Given the description of an element on the screen output the (x, y) to click on. 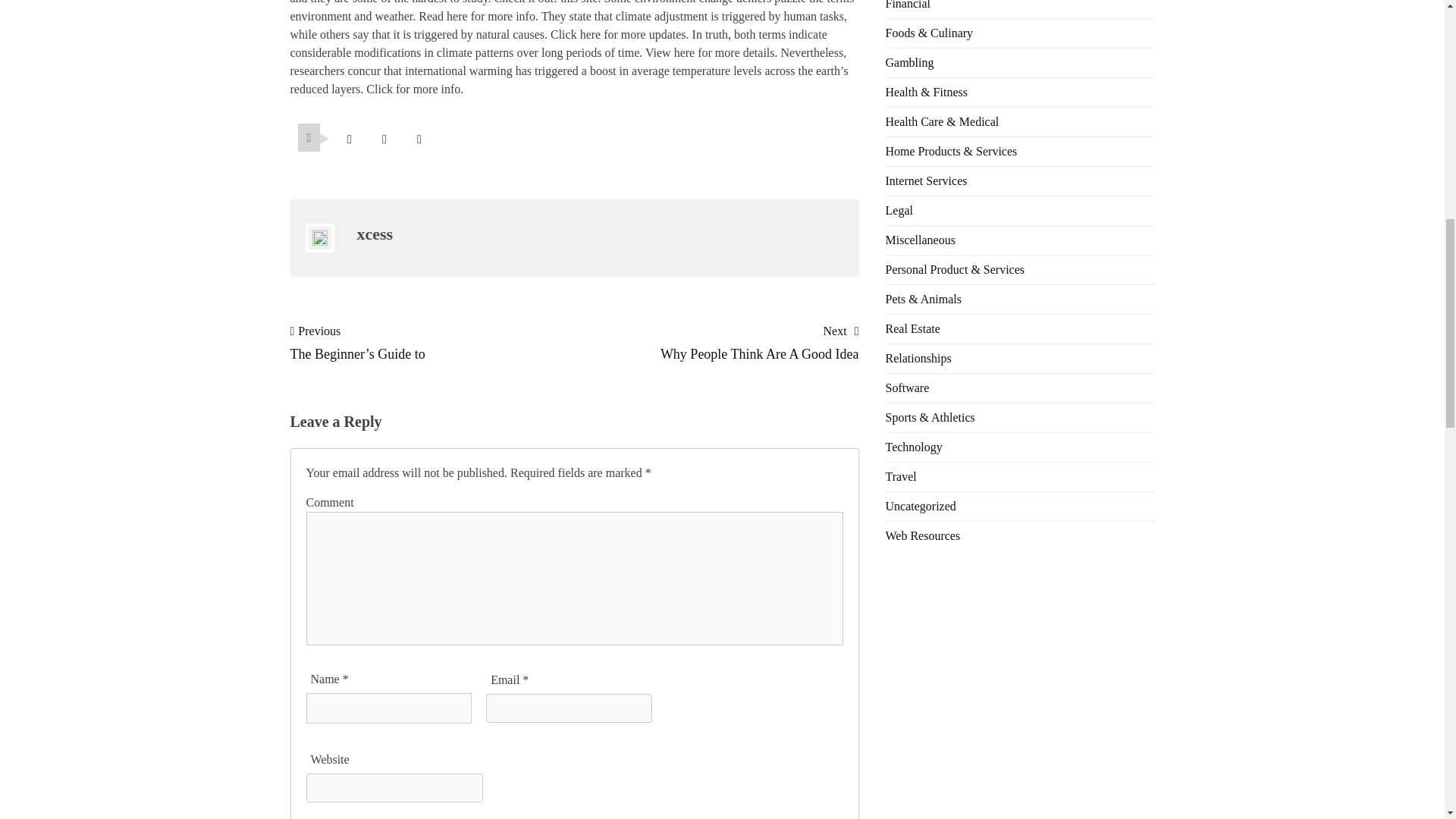
Share on Linkedin (419, 139)
Legal (898, 210)
Gambling (909, 62)
Internet Services (926, 180)
Miscellaneous (920, 239)
Share on Facebook (384, 139)
Tweet This! (349, 139)
Financial (908, 4)
Real Estate (912, 328)
